Given the description of an element on the screen output the (x, y) to click on. 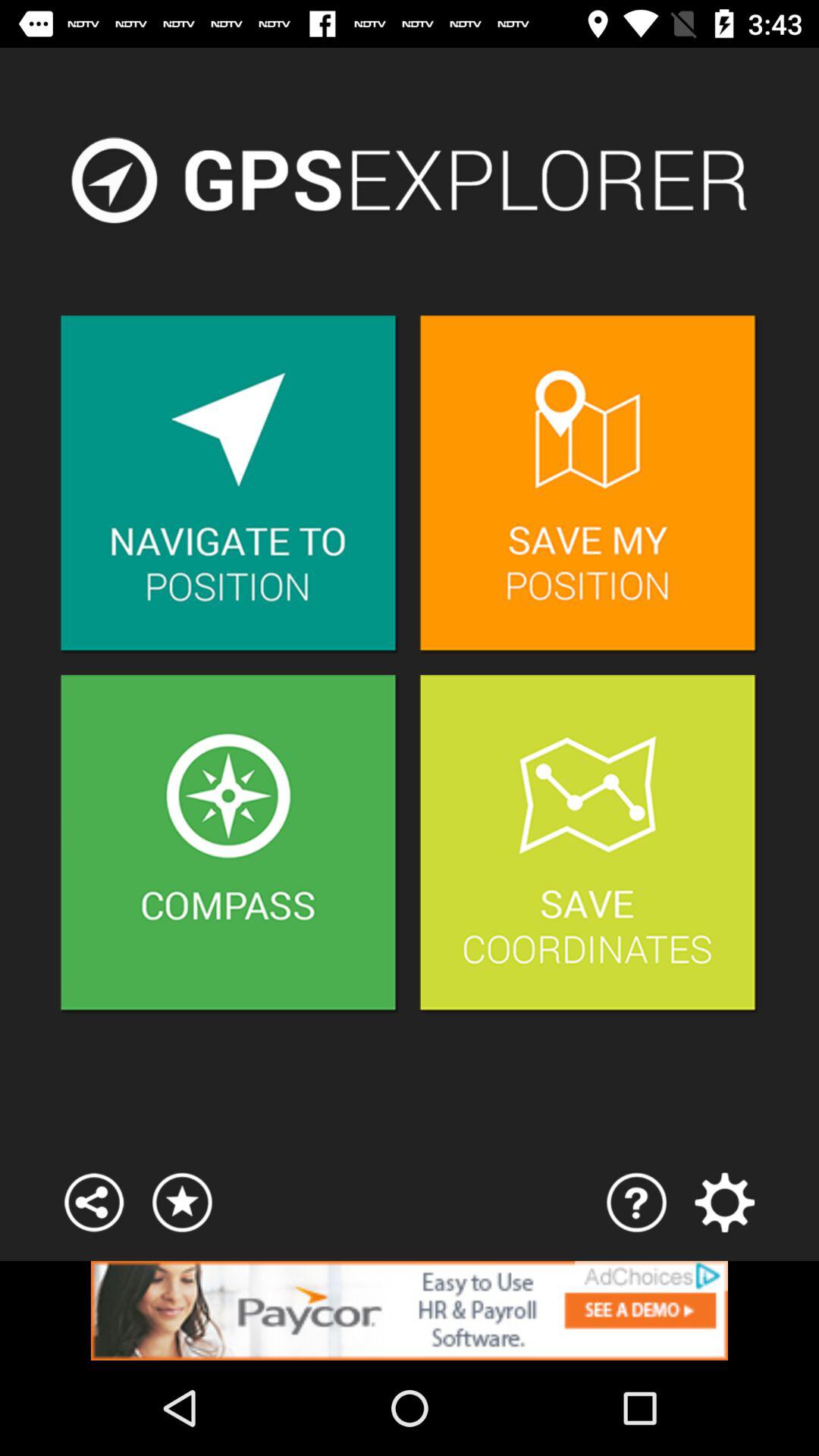
settings app (724, 1202)
